Given the description of an element on the screen output the (x, y) to click on. 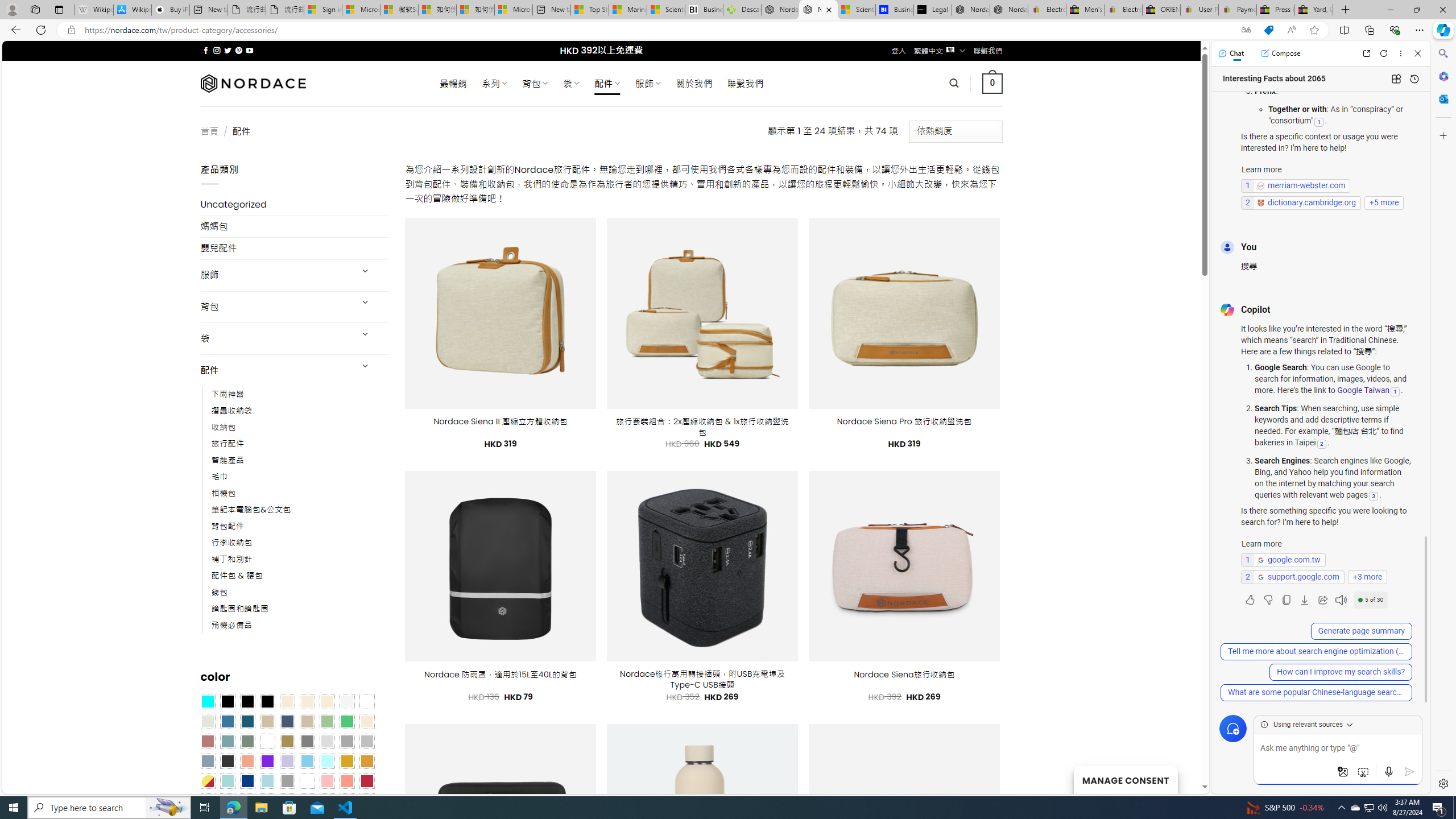
Microsoft account | Account Checkup (513, 9)
Uncategorized (294, 204)
Follow on Instagram (216, 50)
 0  (992, 83)
Buy iPad - Apple (171, 9)
